Given the description of an element on the screen output the (x, y) to click on. 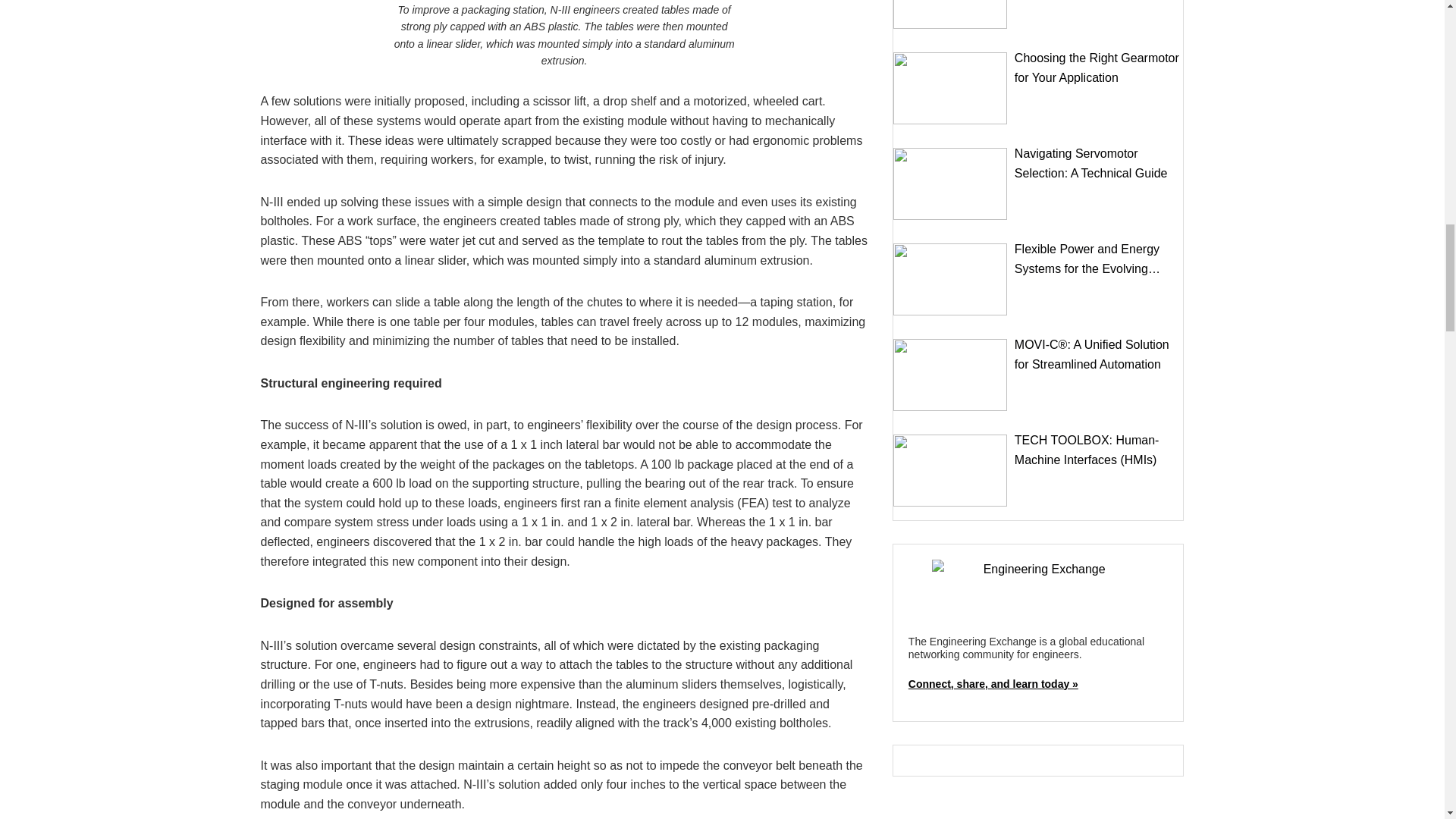
Flexible Power and Energy Systems for the Evolving Factory (950, 279)
Choosing the Right Gearmotor for Your Application (950, 88)
Navigating Servomotor Selection: A Technical Guide (950, 184)
